Given the description of an element on the screen output the (x, y) to click on. 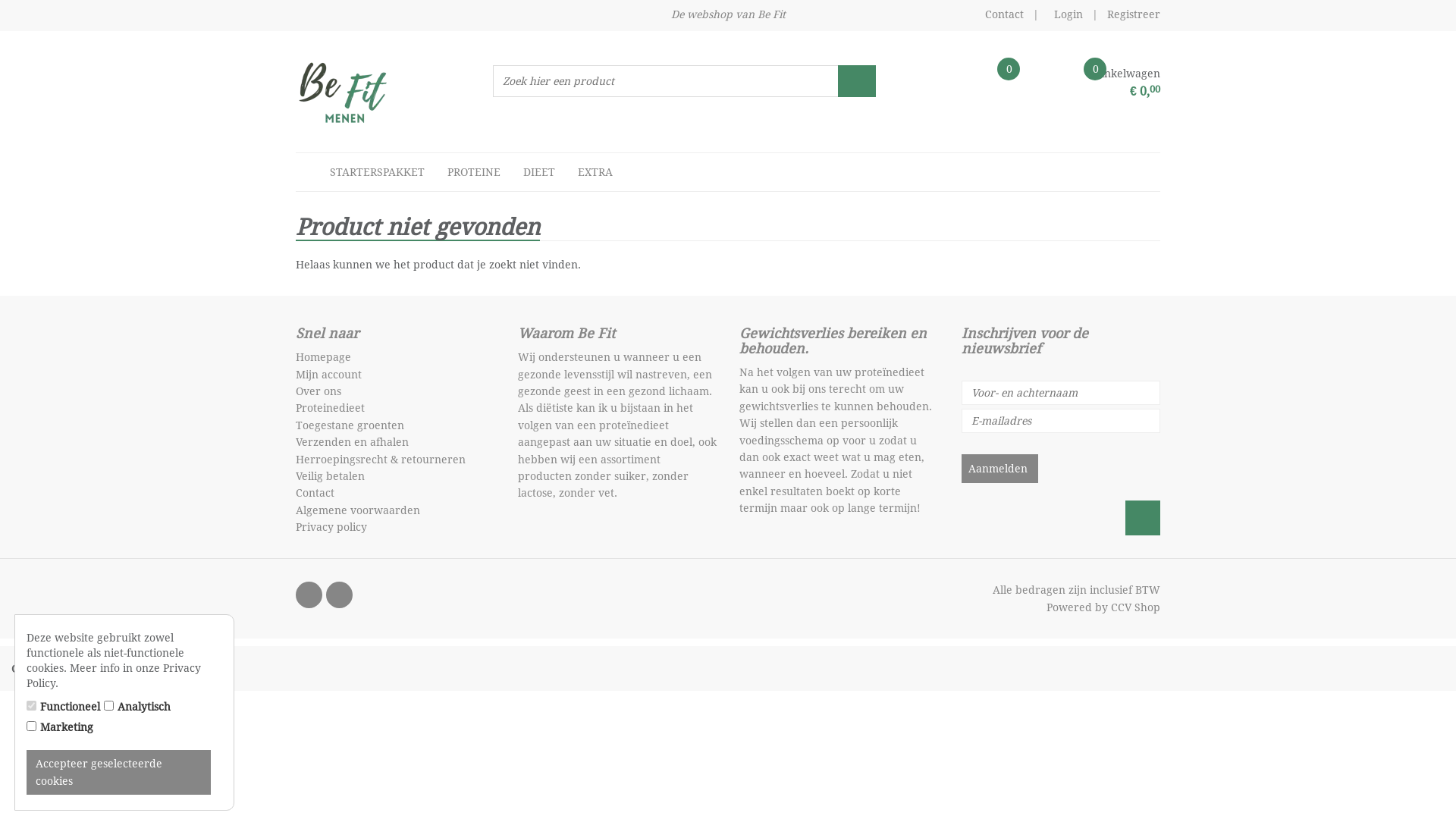
Herroepingsrecht & retourneren Element type: text (380, 459)
Aanmelden Element type: text (998, 468)
Aanmelden Element type: text (999, 468)
EXTRA Element type: text (595, 172)
Veilig betalen Element type: text (329, 476)
Contact Element type: text (1004, 14)
PROTEINE Element type: text (473, 172)
Homepage Element type: text (323, 357)
Registreer Element type: text (1133, 14)
Algemene voorwaarden Element type: text (357, 510)
Over ons Element type: text (318, 391)
Privacy policy Element type: text (331, 526)
DIEET Element type: text (538, 172)
Toegestane groenten Element type: text (349, 425)
STARTERSPAKKET Element type: text (377, 172)
Contact Element type: text (314, 492)
Verzenden en afhalen Element type: text (351, 442)
CCV Shop Element type: text (1135, 607)
Mijn account Element type: text (328, 374)
0 Element type: text (949, 85)
Proteinedieet Element type: text (329, 407)
